Given the description of an element on the screen output the (x, y) to click on. 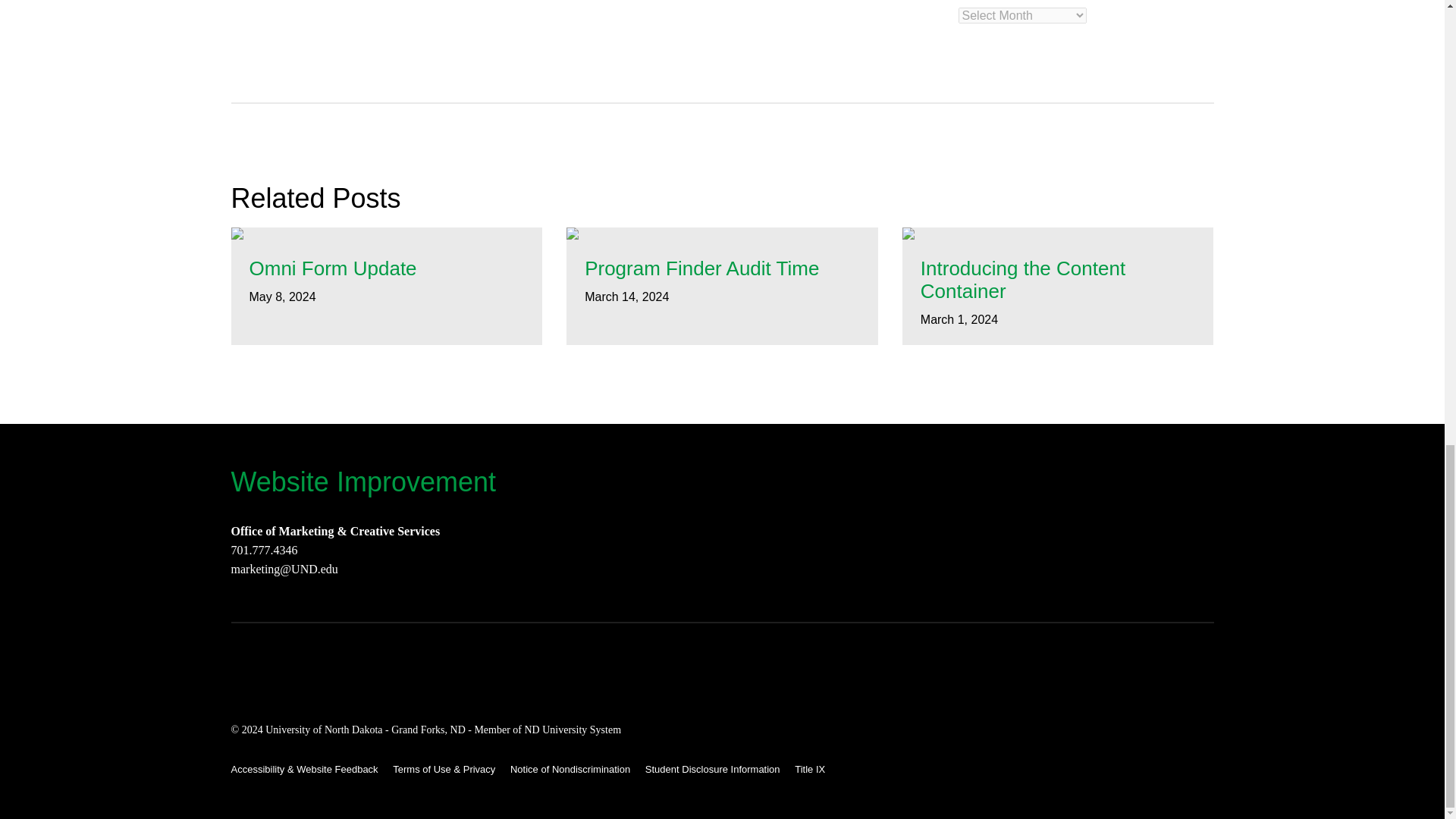
Program Finder Audit Time (722, 268)
Omni Form Update (386, 268)
701.777.4346 (263, 549)
Introducing the Content Container (1057, 280)
